Given the description of an element on the screen output the (x, y) to click on. 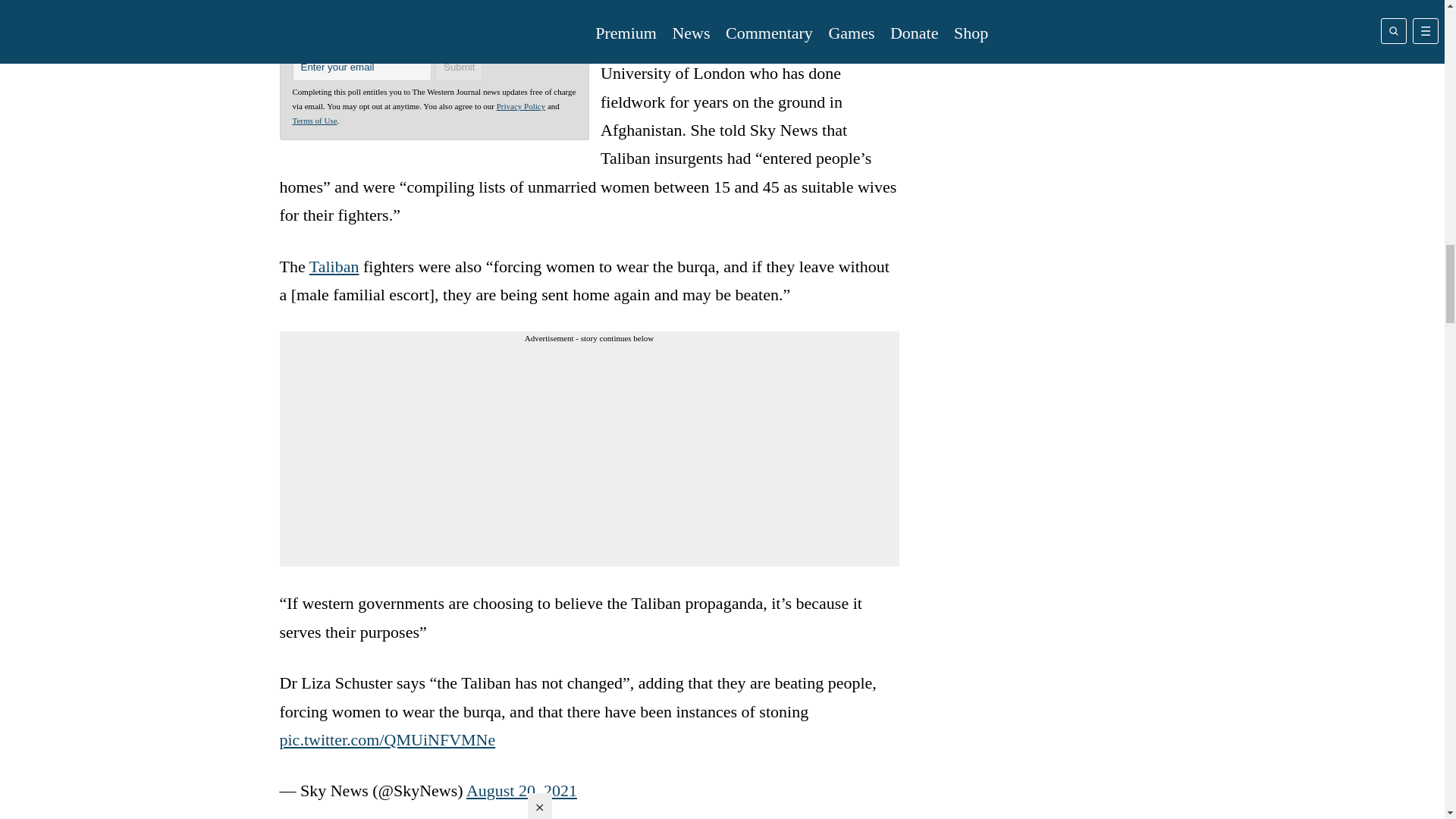
no (345, 35)
yes (300, 35)
Submit (459, 67)
